Given the description of an element on the screen output the (x, y) to click on. 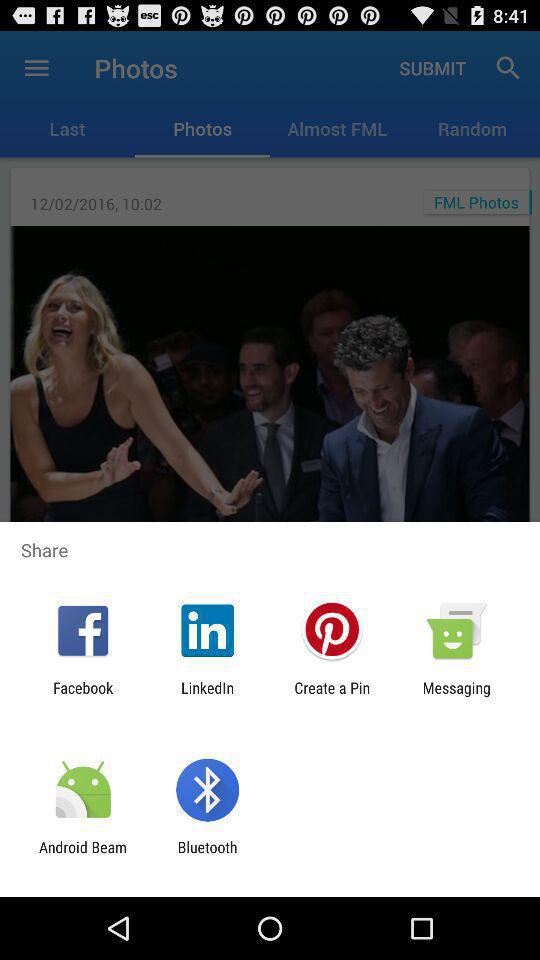
scroll until the linkedin (207, 696)
